Given the description of an element on the screen output the (x, y) to click on. 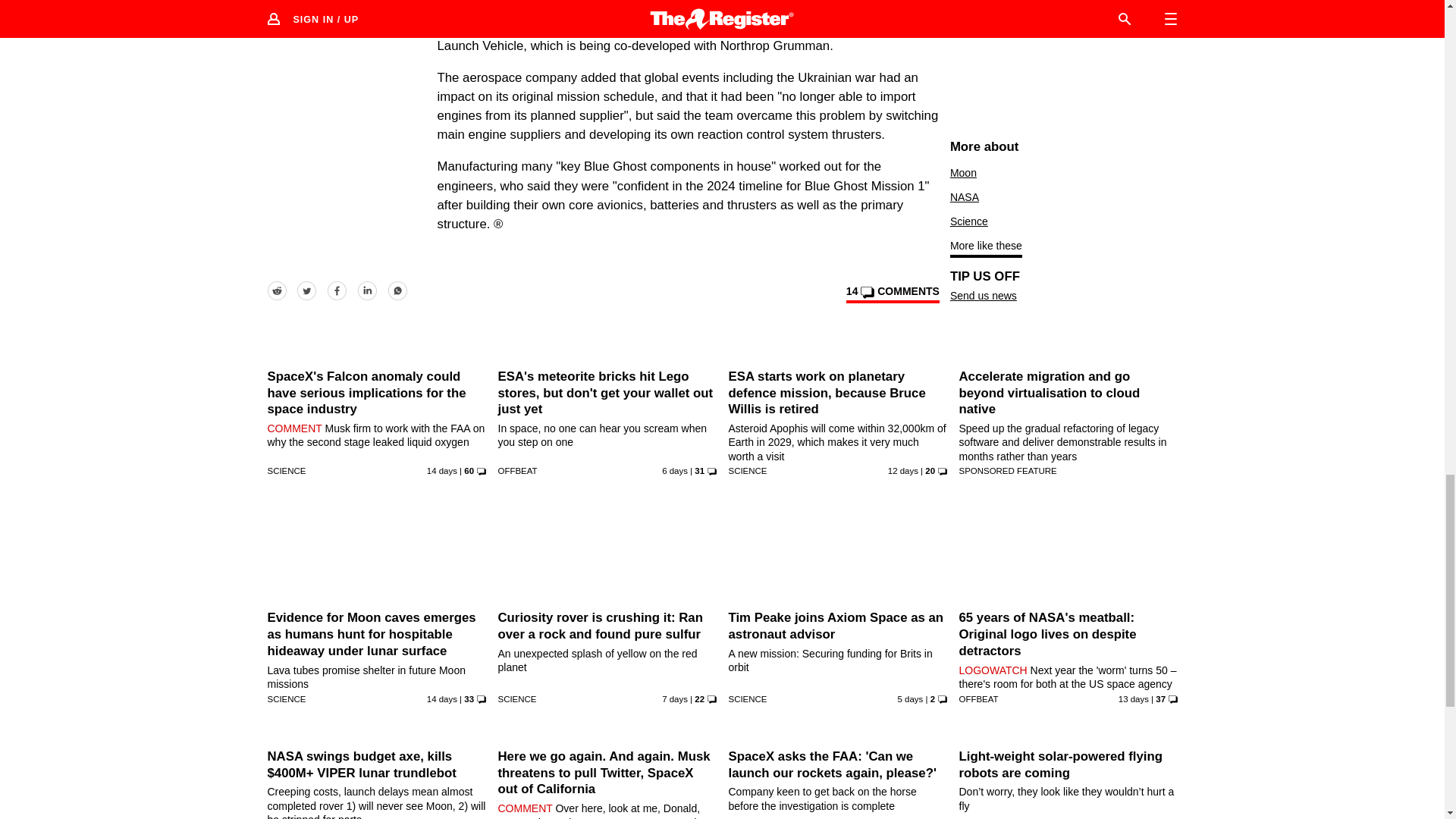
23 Jul 2024 10:45 (674, 470)
View comments on this article (892, 294)
17 Jul 2024 6:32 (903, 470)
15 Jul 2024 12:51 (441, 470)
